Given the description of an element on the screen output the (x, y) to click on. 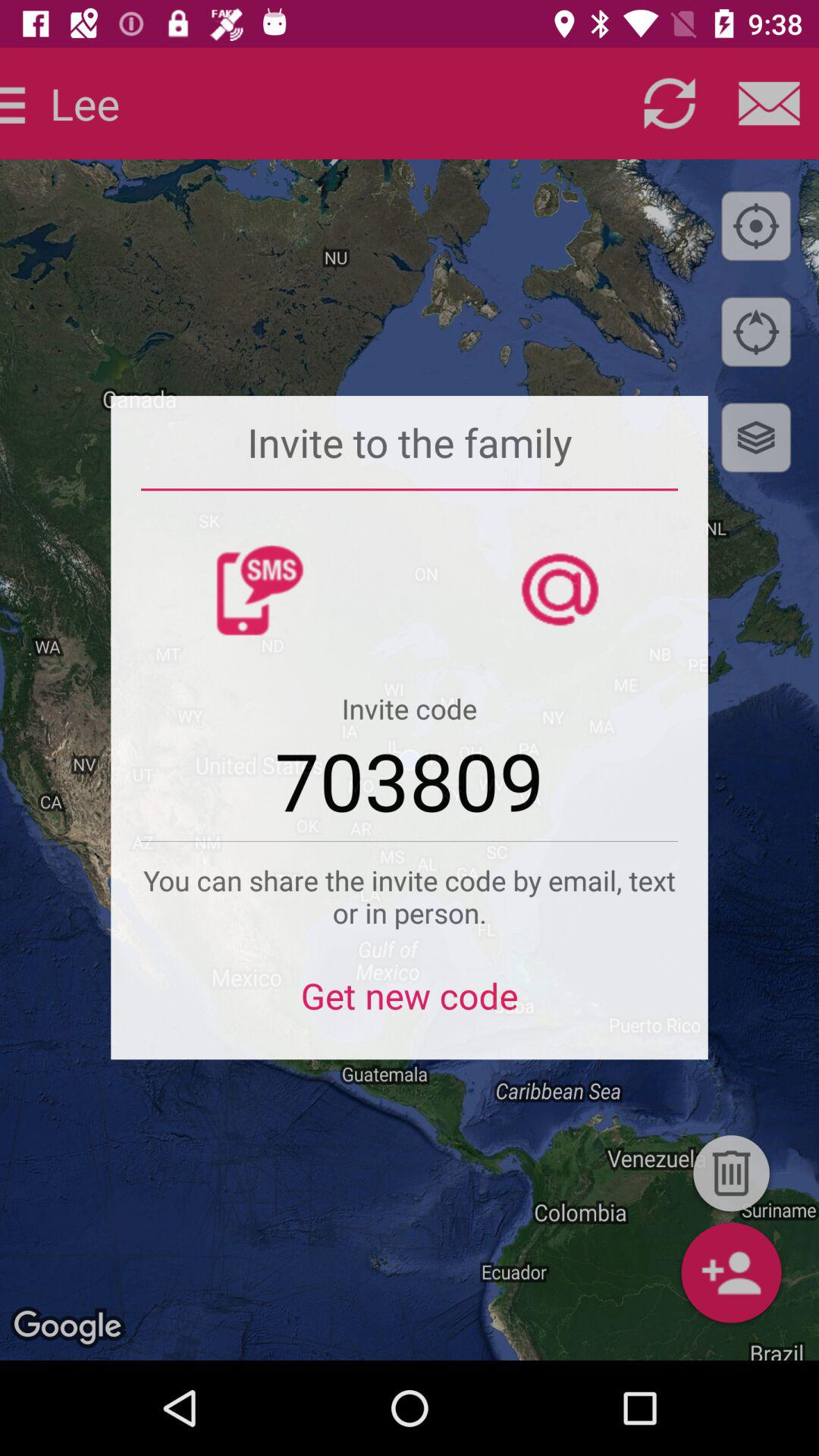
tap the item below the you can share (409, 1005)
